Given the description of an element on the screen output the (x, y) to click on. 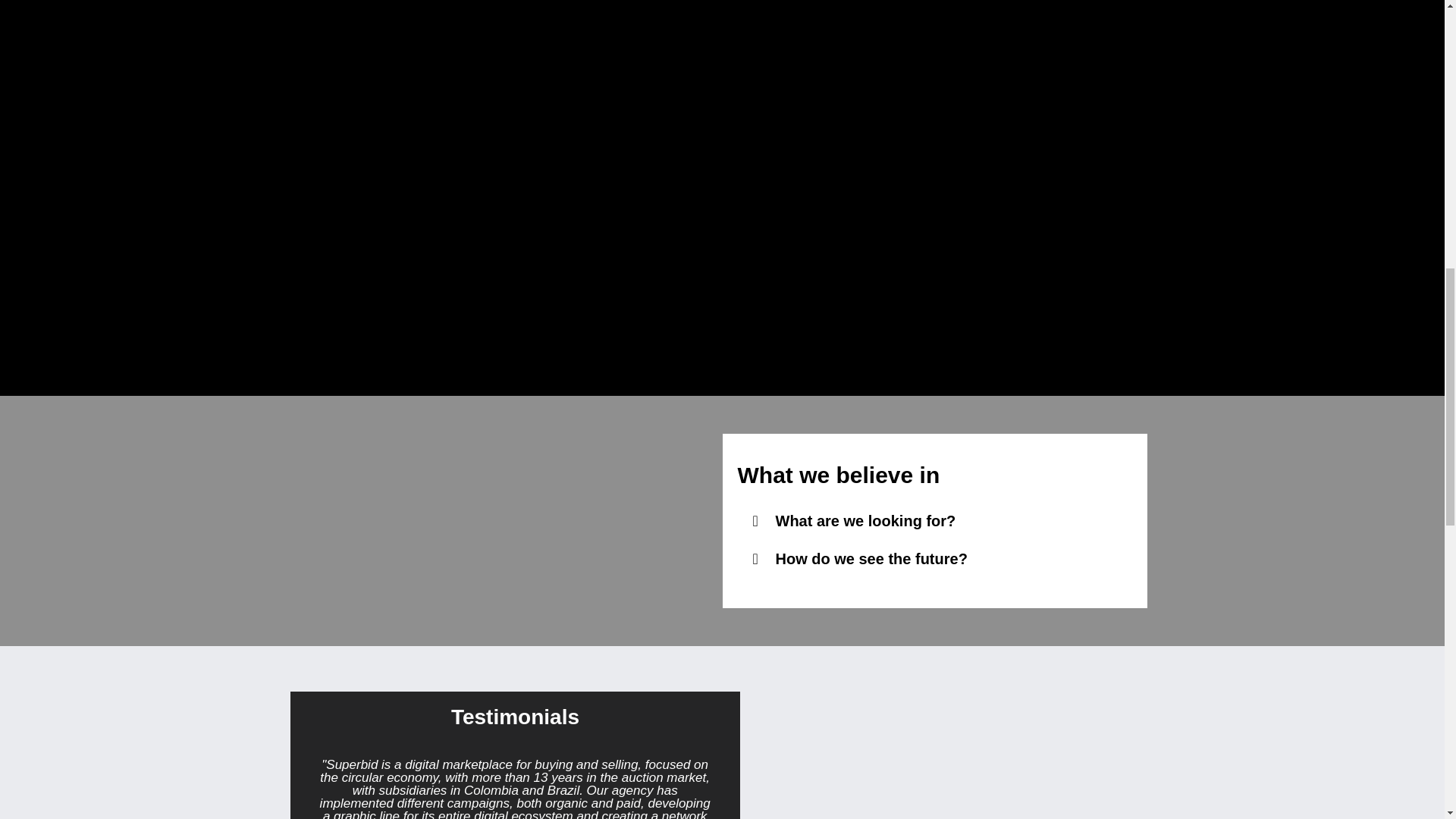
What are we looking for? (864, 520)
How do we see the future? (870, 558)
